Given the description of an element on the screen output the (x, y) to click on. 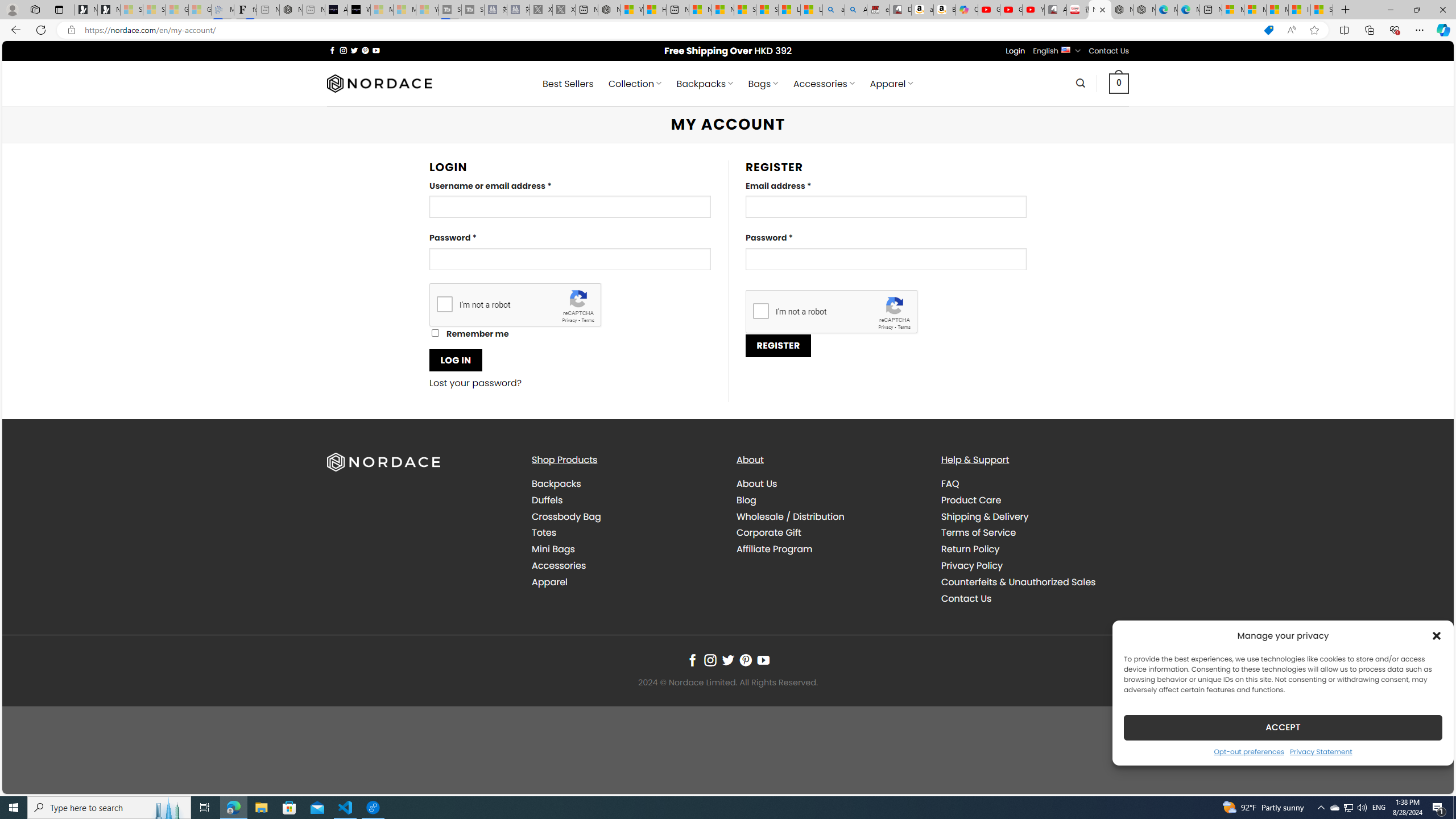
Wholesale / Distribution (790, 516)
Blog (746, 499)
Blog (830, 499)
Follow on Twitter (727, 659)
